Given the description of an element on the screen output the (x, y) to click on. 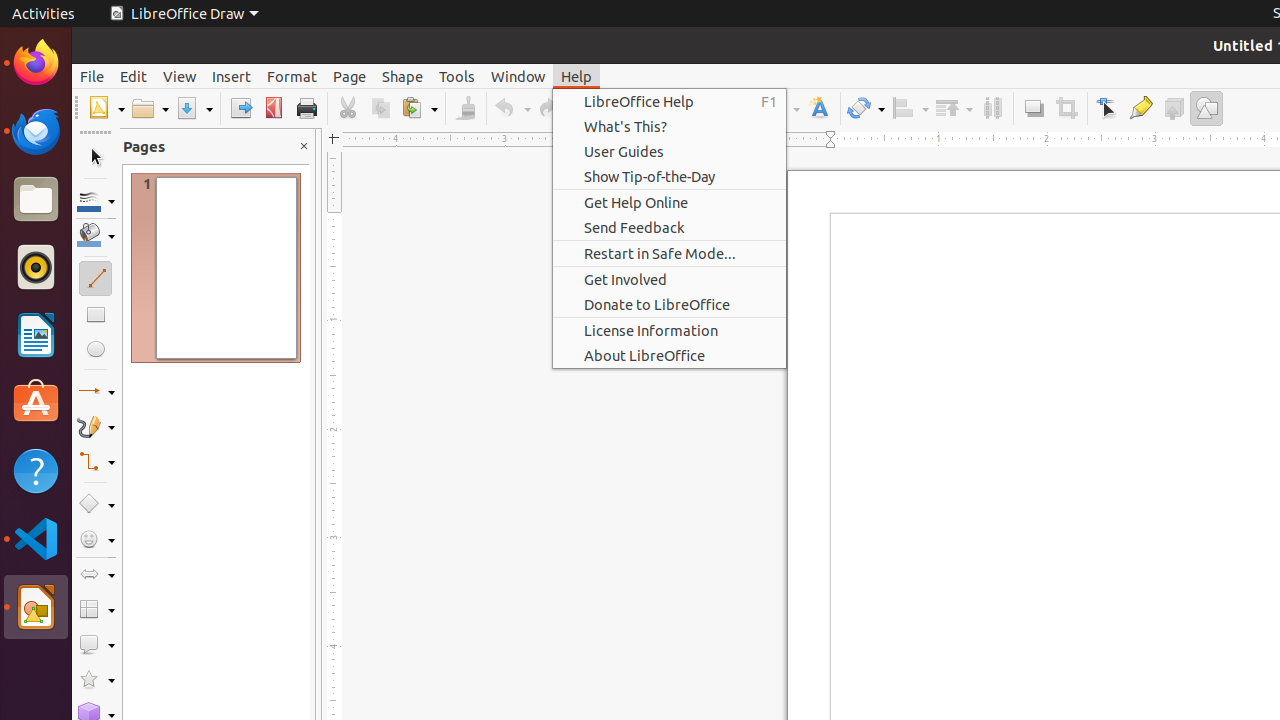
Undo Element type: push-button (512, 108)
Insert Element type: menu (231, 76)
About LibreOffice Element type: menu-item (669, 355)
Rhythmbox Element type: push-button (36, 267)
Ubuntu Software Element type: push-button (36, 402)
